Given the description of an element on the screen output the (x, y) to click on. 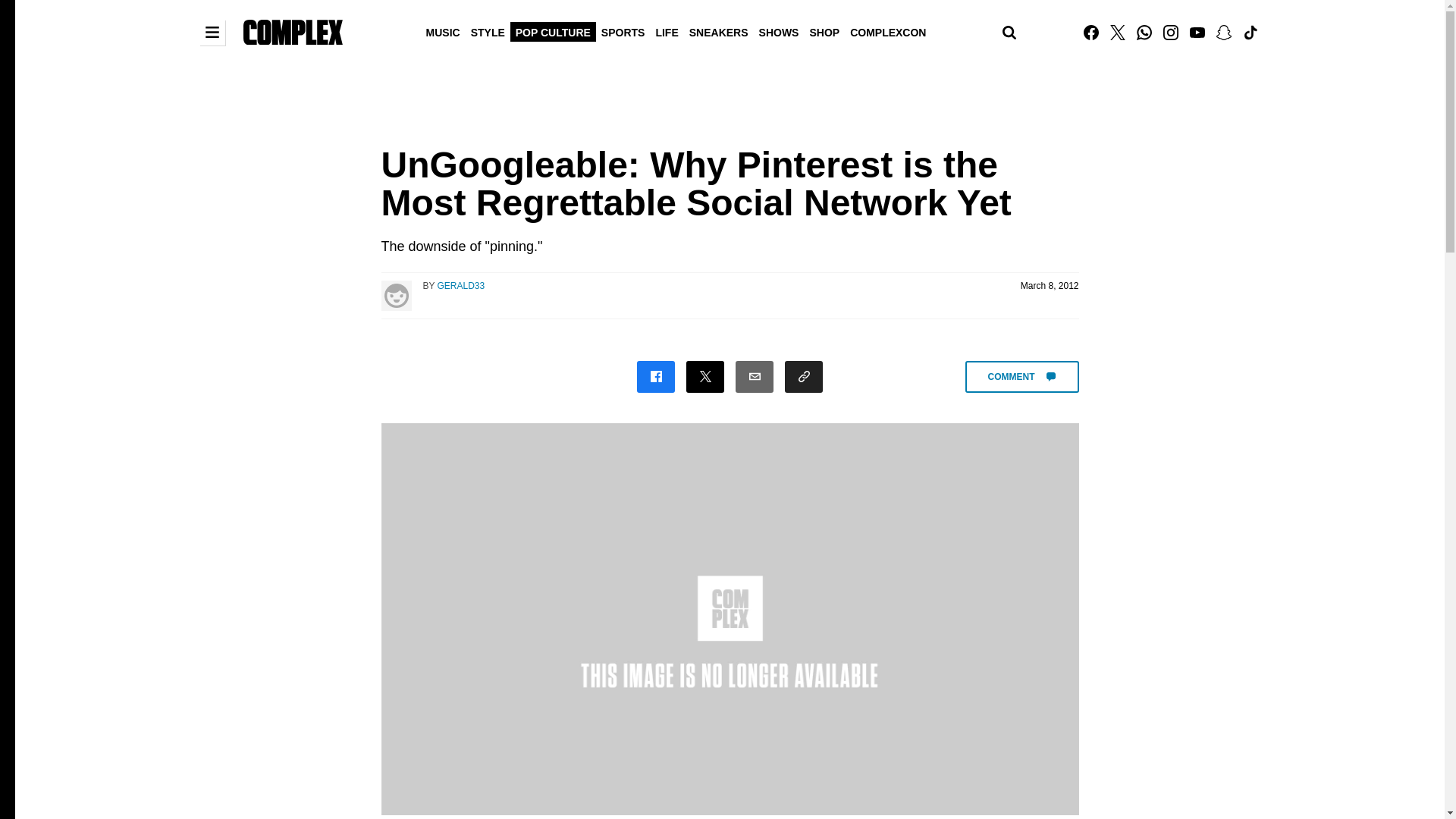
COMPLEXCON (887, 30)
LIFE (665, 30)
POP CULTURE (553, 30)
SPORTS (622, 30)
STYLE (488, 30)
SHOWS (779, 30)
SHOP (823, 30)
SNEAKERS (719, 30)
MUSIC (442, 30)
